Given the description of an element on the screen output the (x, y) to click on. 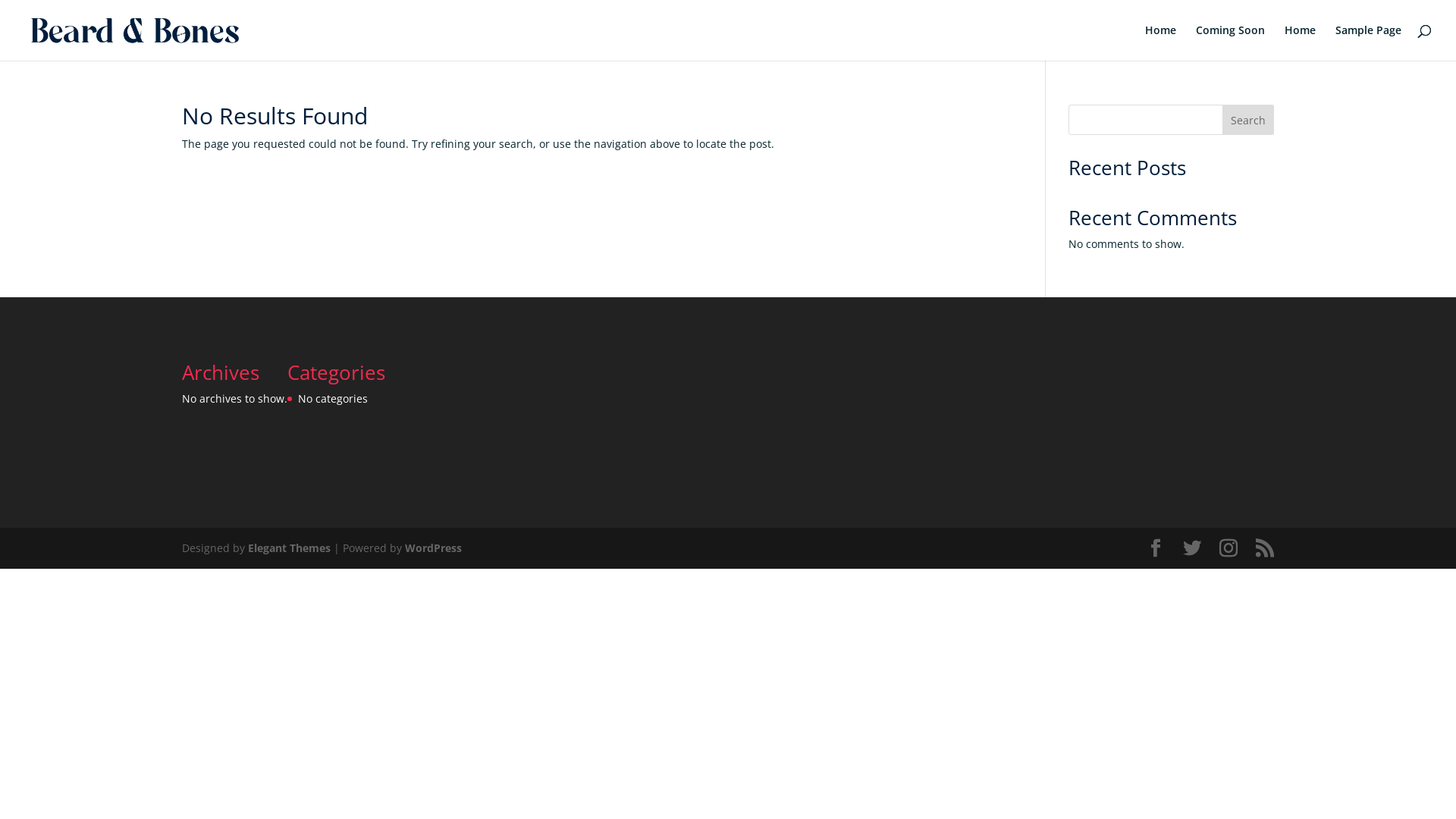
Sample Page Element type: text (1368, 42)
WordPress Element type: text (432, 547)
Home Element type: text (1160, 42)
Home Element type: text (1299, 42)
Search Element type: text (1248, 119)
Coming Soon Element type: text (1229, 42)
Elegant Themes Element type: text (288, 547)
